Given the description of an element on the screen output the (x, y) to click on. 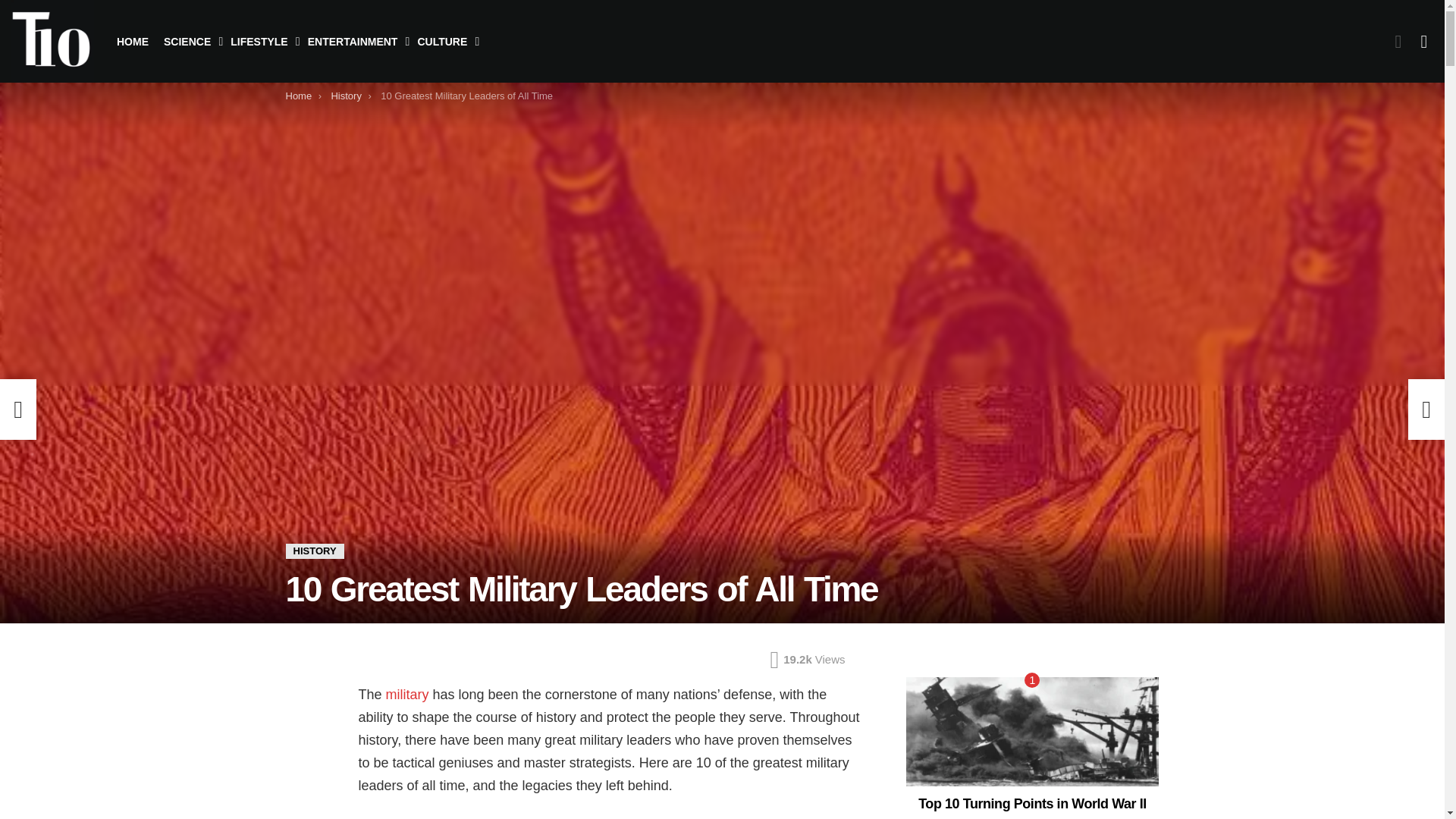
SCIENCE (188, 41)
CULTURE (444, 41)
HISTORY (314, 550)
military (407, 694)
ENTERTAINMENT (354, 41)
Home (298, 95)
LIFESTYLE (260, 41)
HOME (132, 41)
History (345, 95)
